Given the description of an element on the screen output the (x, y) to click on. 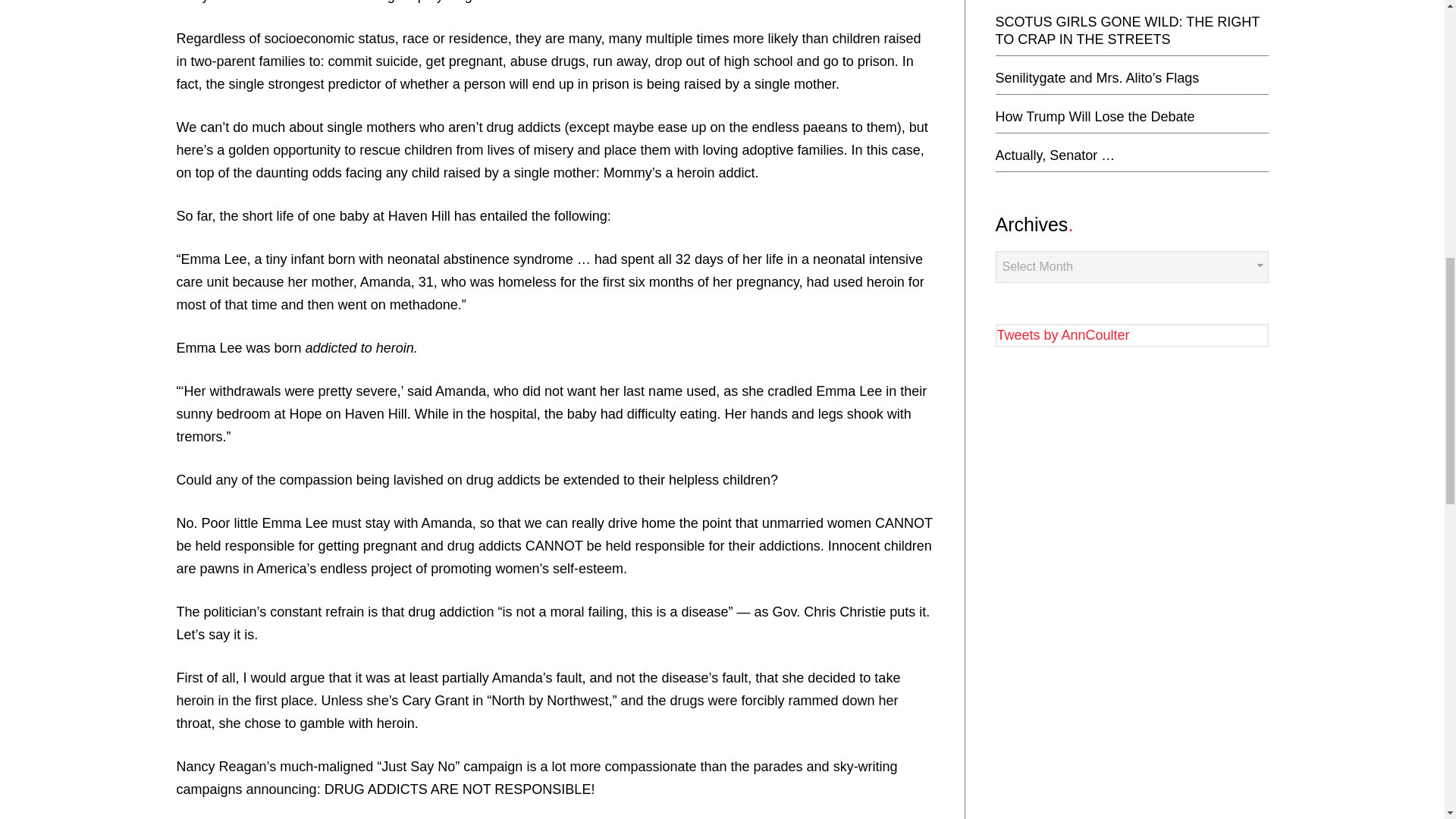
Tweets by AnnCoulter (1062, 335)
How Trump Will Lose the Debate (1093, 116)
SCOTUS GIRLS GONE WILD: THE RIGHT TO CRAP IN THE STREETS (1126, 30)
